Given the description of an element on the screen output the (x, y) to click on. 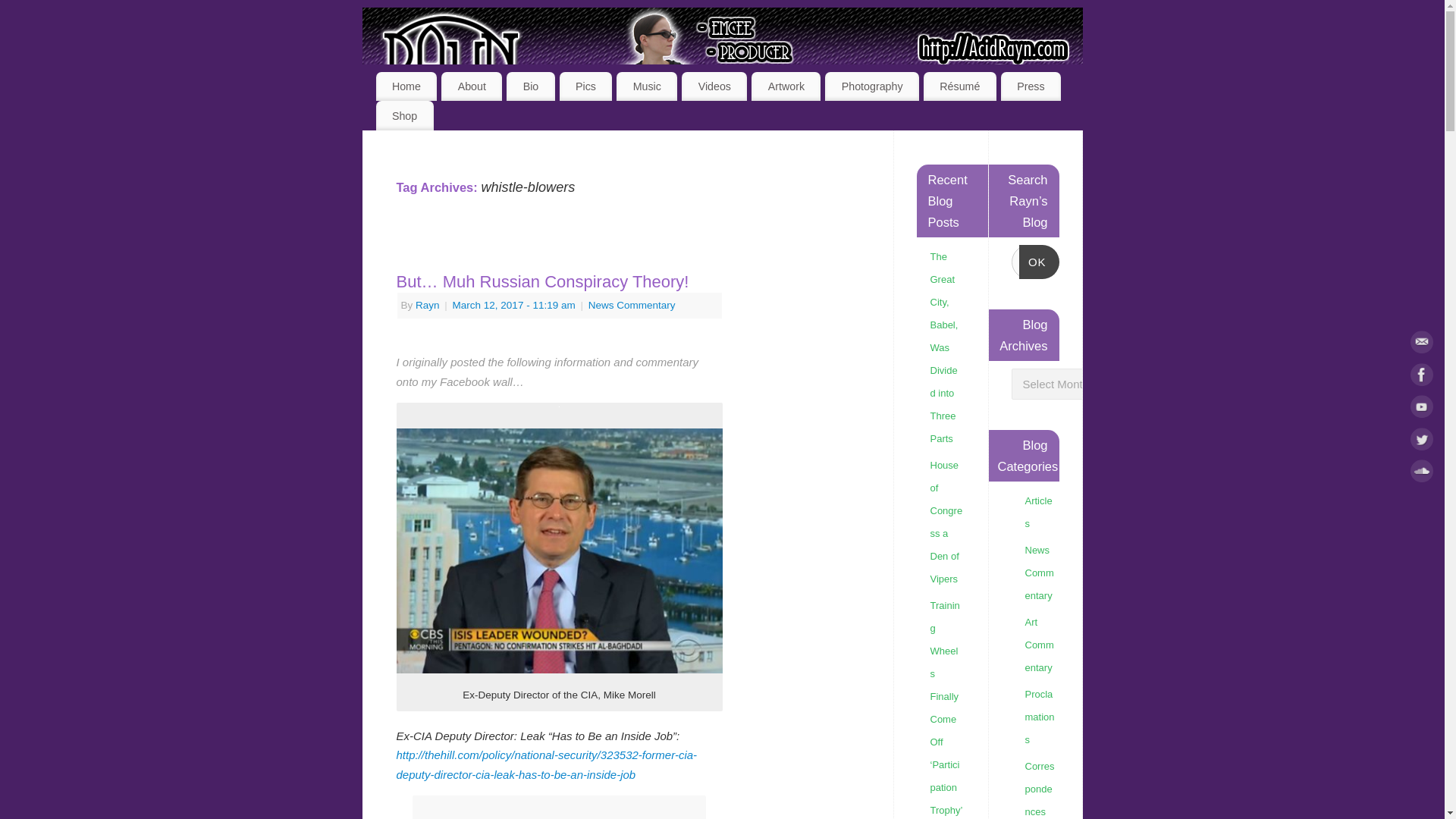
Shop (404, 114)
Photography (871, 86)
Videos (713, 86)
Bio (530, 86)
Press (1031, 86)
AcidRayn.com (726, 64)
About (471, 86)
Home (406, 86)
News Commentary (631, 305)
